Given the description of an element on the screen output the (x, y) to click on. 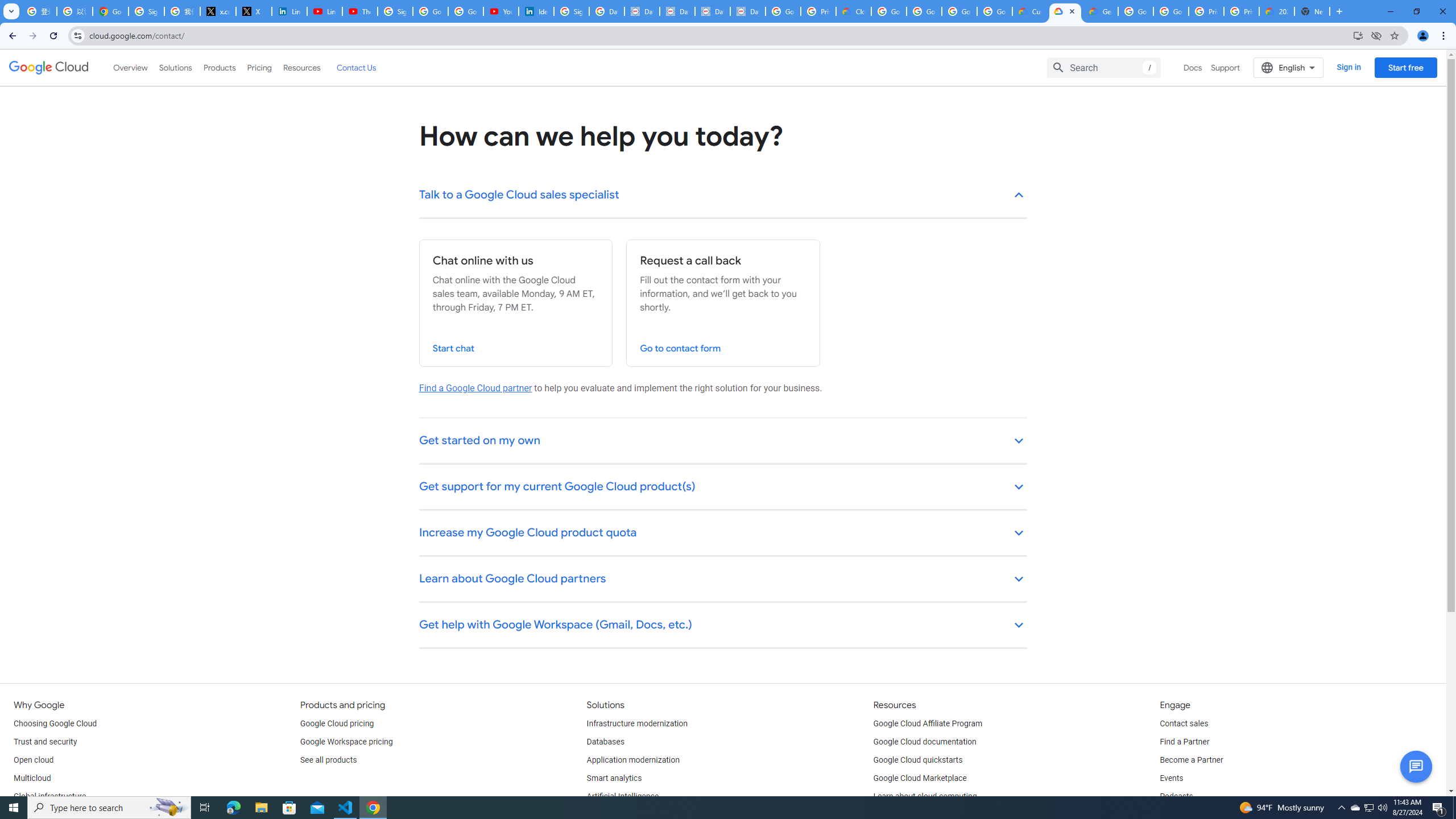
Artificial Intelligence (622, 796)
Multicloud (31, 778)
X (253, 11)
Choosing Google Cloud (55, 723)
Docs (1192, 67)
New Tab (1312, 11)
Button to activate chat (1416, 766)
Install Google Cloud (1358, 35)
Data Privacy Framework (677, 11)
